Given the description of an element on the screen output the (x, y) to click on. 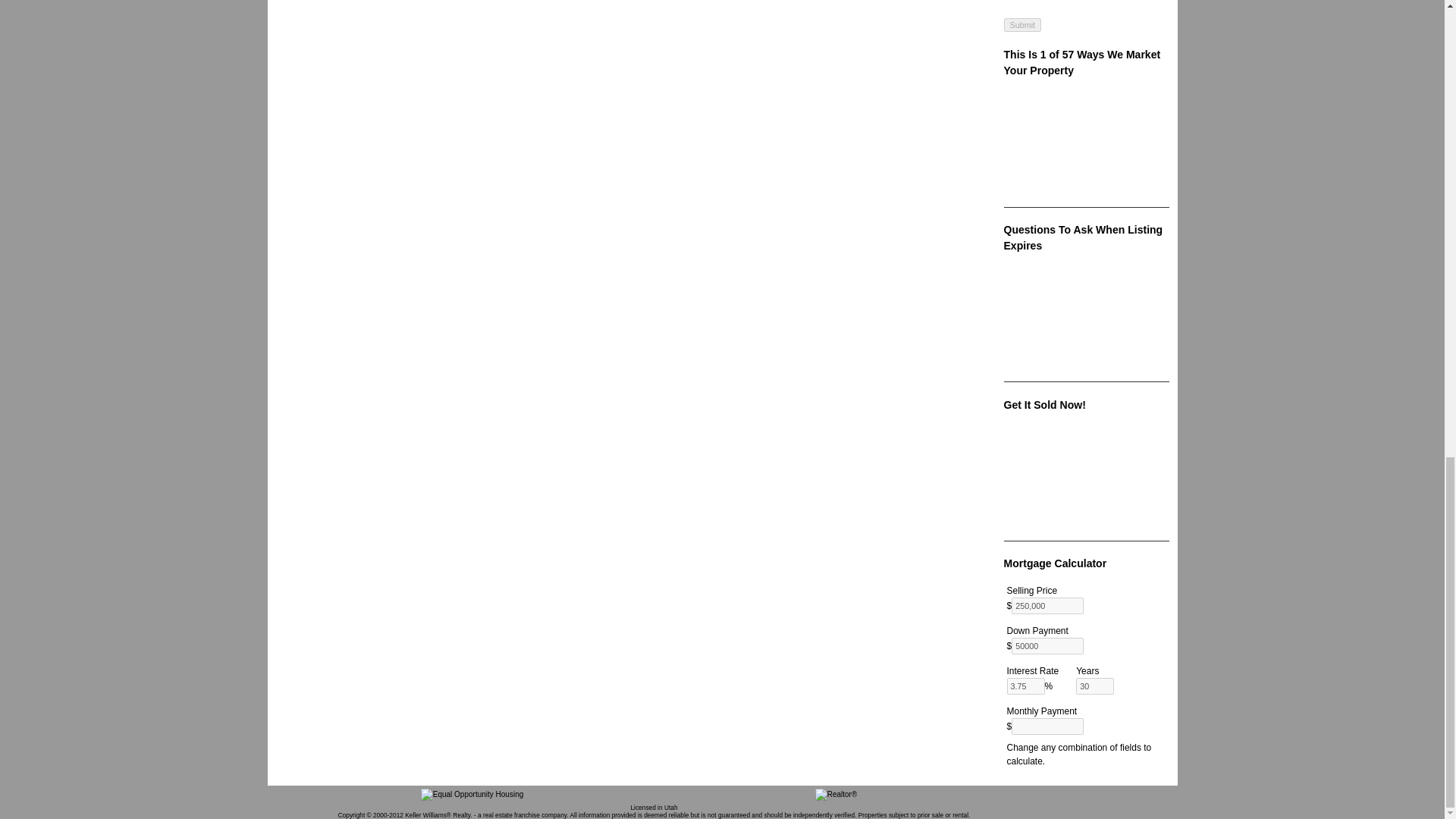
3.75 (1026, 686)
50000 (1047, 646)
250,000 (1047, 605)
Submit (1023, 24)
30 (1094, 686)
